Given the description of an element on the screen output the (x, y) to click on. 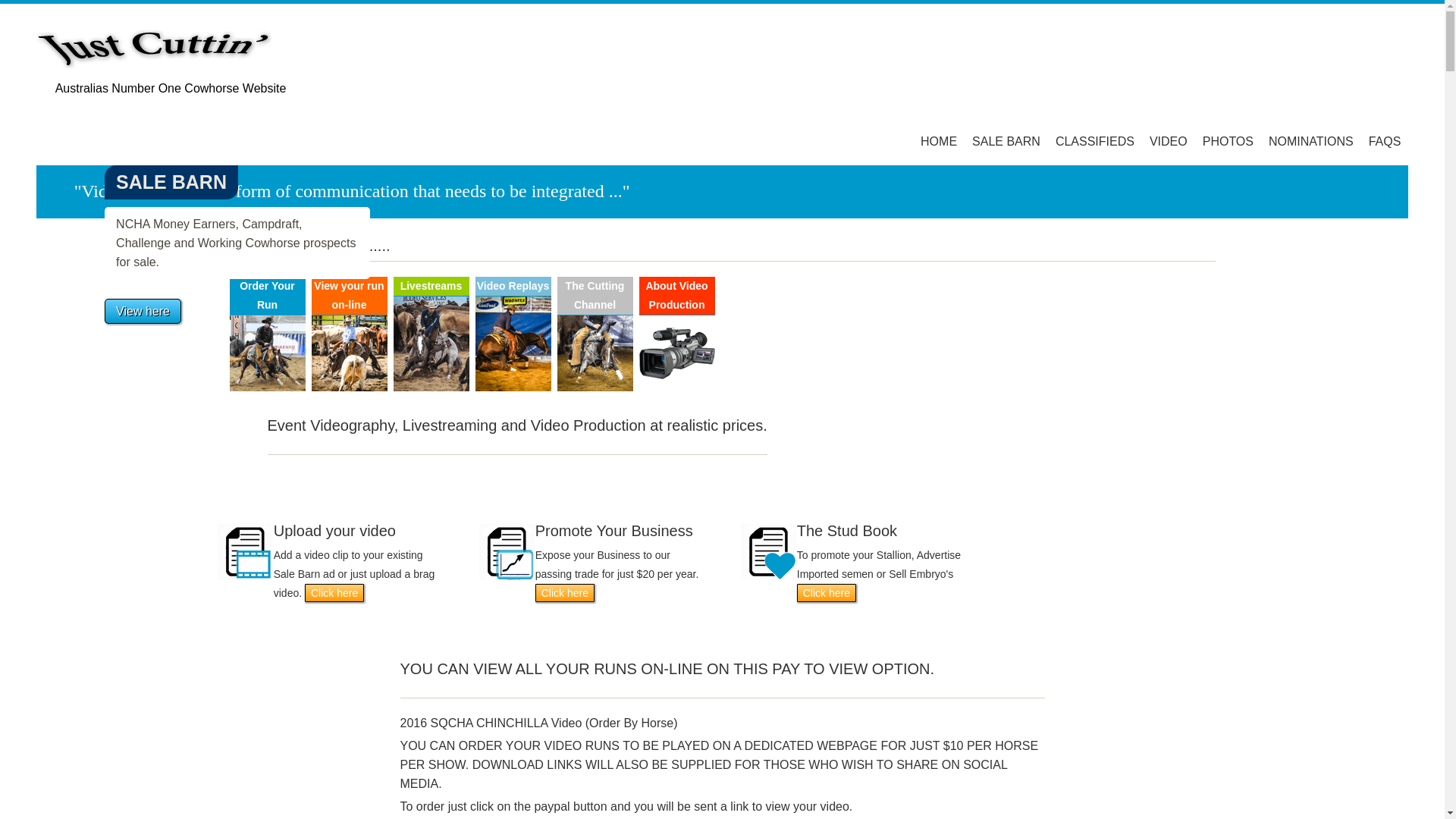
The Cutting Channel Element type: text (594, 295)
HOME Element type: text (938, 140)
VIDEO Element type: text (1168, 140)
Click here Element type: text (334, 592)
Click here Element type: text (826, 592)
About Video Production Element type: text (676, 295)
SALE BARN Element type: text (1006, 140)
CLASSIFIEDS Element type: text (1094, 140)
NOMINATIONS Element type: text (1310, 140)
Video Replays Element type: text (512, 285)
Click here Element type: text (564, 592)
Livestreams Element type: text (430, 285)
Order Your Run Element type: text (266, 295)
View your run on-line Element type: text (348, 295)
PHOTOS Element type: text (1227, 140)
View here Element type: text (142, 310)
FAQS Element type: text (1384, 140)
